Given the description of an element on the screen output the (x, y) to click on. 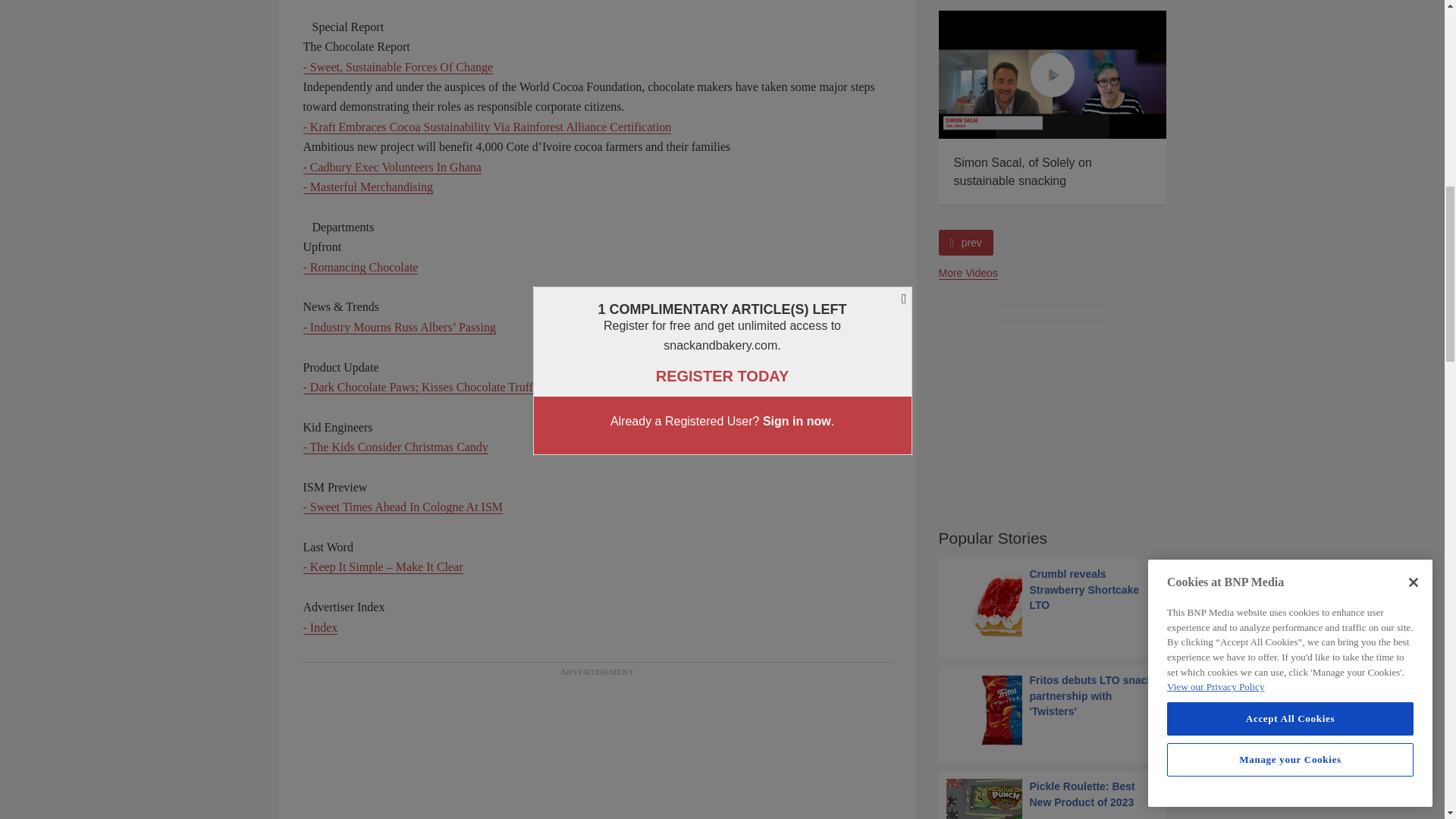
Simon Sacal, of Solely on sustainable snacking (1052, 74)
Fritos debuts LTO snack partnership with 'Twisters' (1052, 710)
Pickle Roulette: Best New Product of 2023 (1052, 798)
Crumbl reveals Strawberry Shortcake LTO (1052, 604)
